Given the description of an element on the screen output the (x, y) to click on. 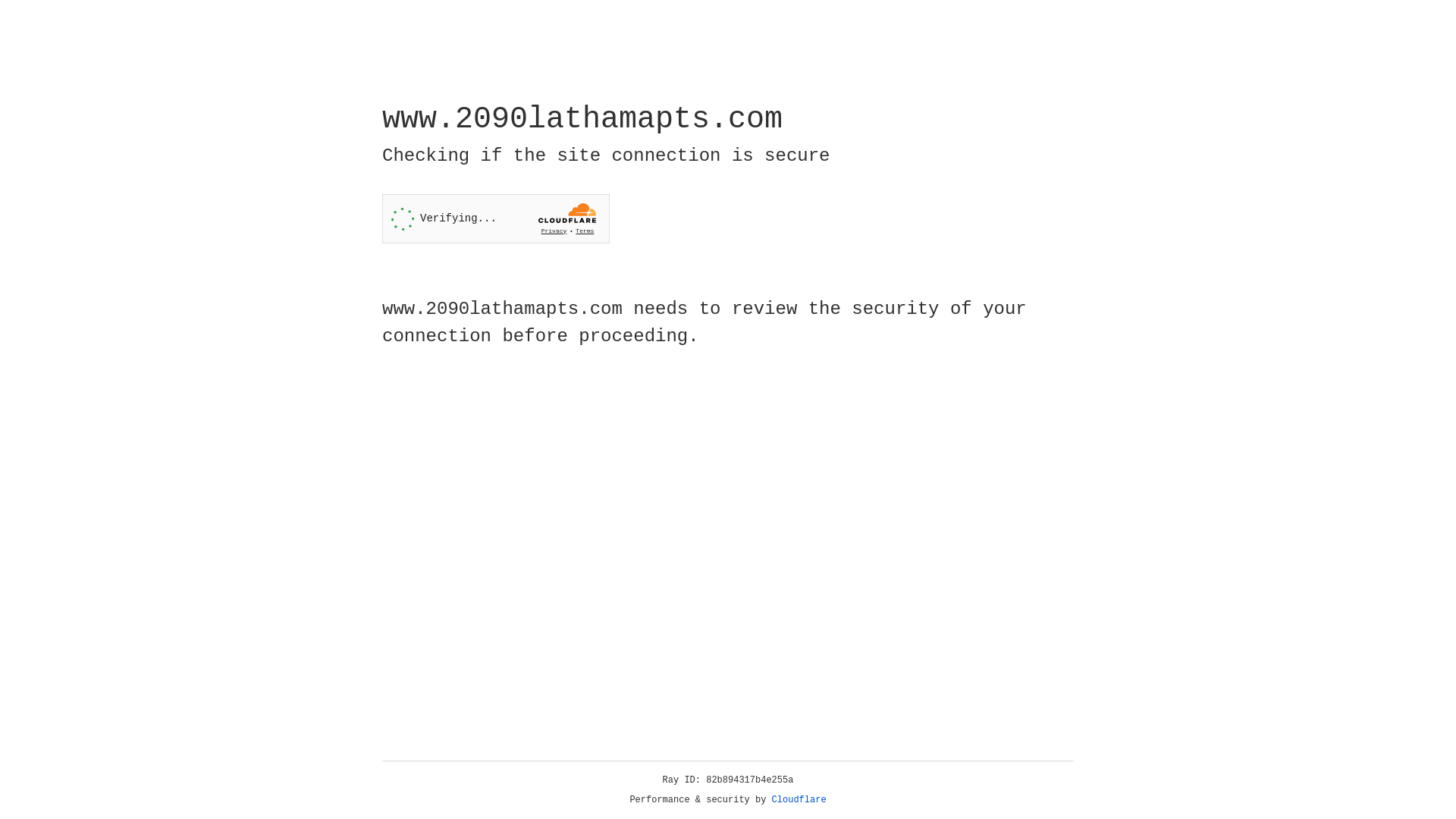
Cloudflare Element type: text (798, 799)
Widget containing a Cloudflare security challenge Element type: hover (495, 218)
